Given the description of an element on the screen output the (x, y) to click on. 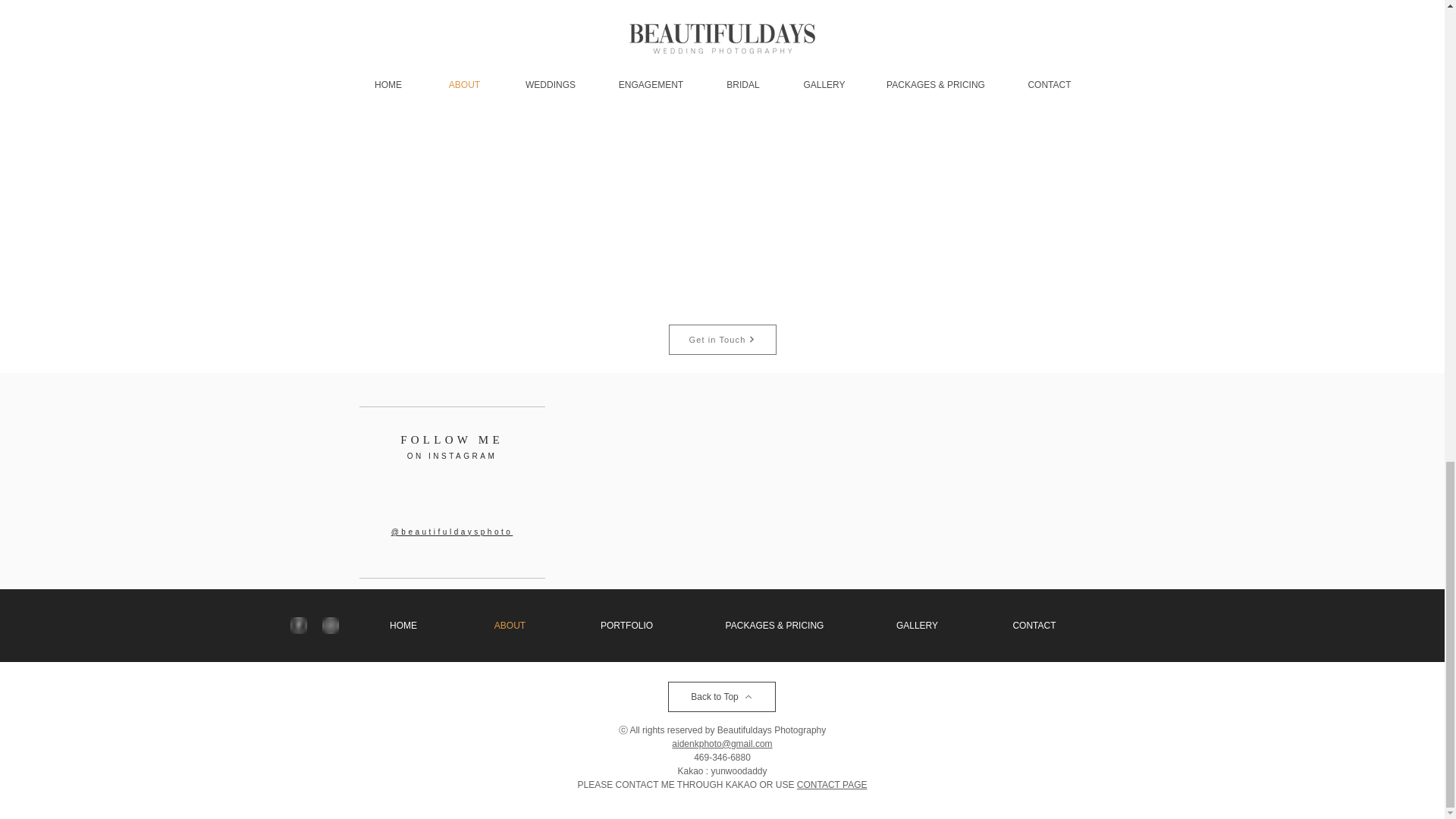
CONTACT PAGE (831, 784)
Back to Top (720, 696)
HOME (402, 625)
CONTACT (1034, 625)
ABOUT (510, 625)
Get in Touch (722, 339)
